Given the description of an element on the screen output the (x, y) to click on. 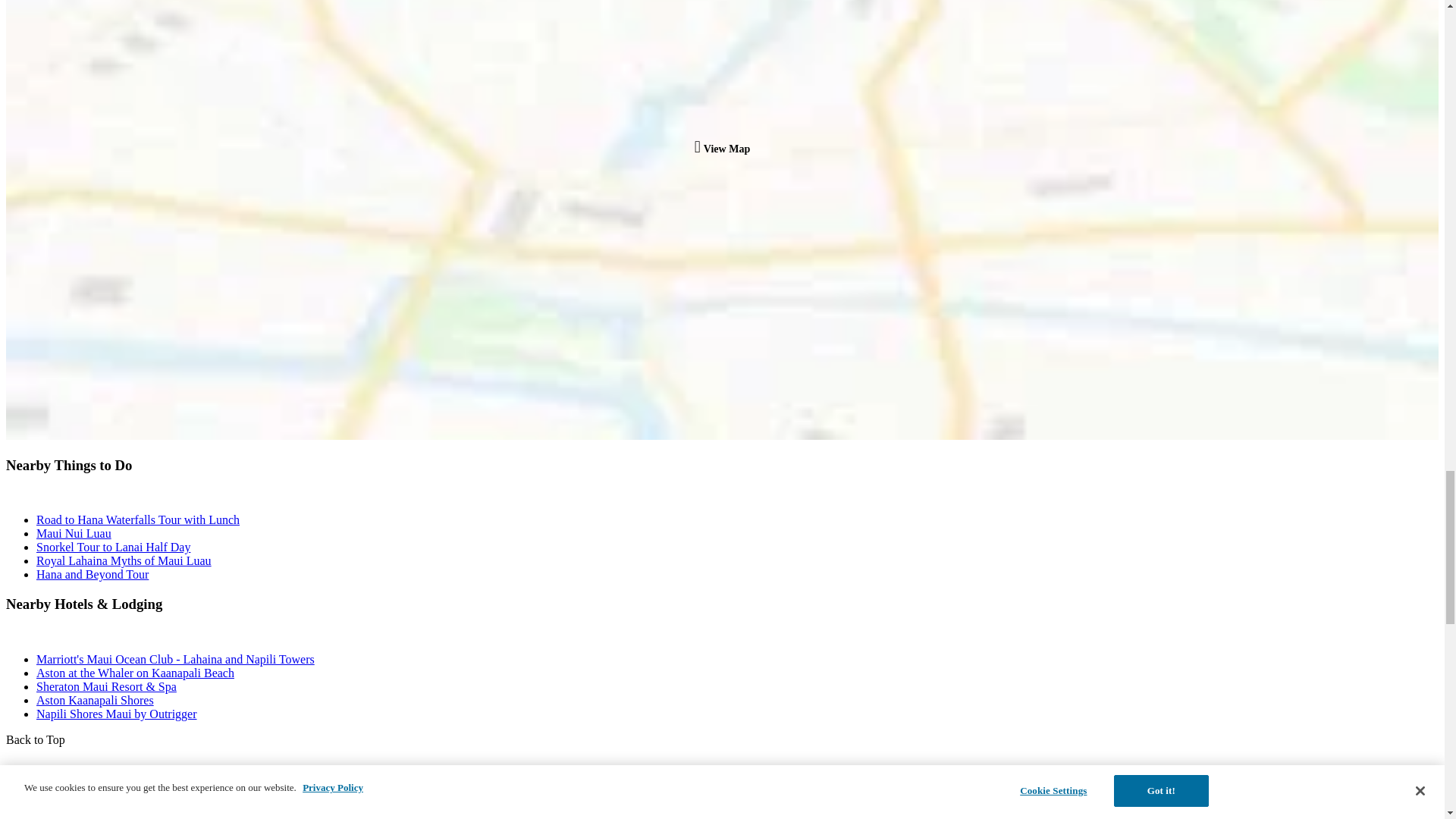
Maui Nui Luau (74, 533)
Road to Hana Waterfalls Tour with Lunch (138, 519)
View Map (721, 147)
